Given the description of an element on the screen output the (x, y) to click on. 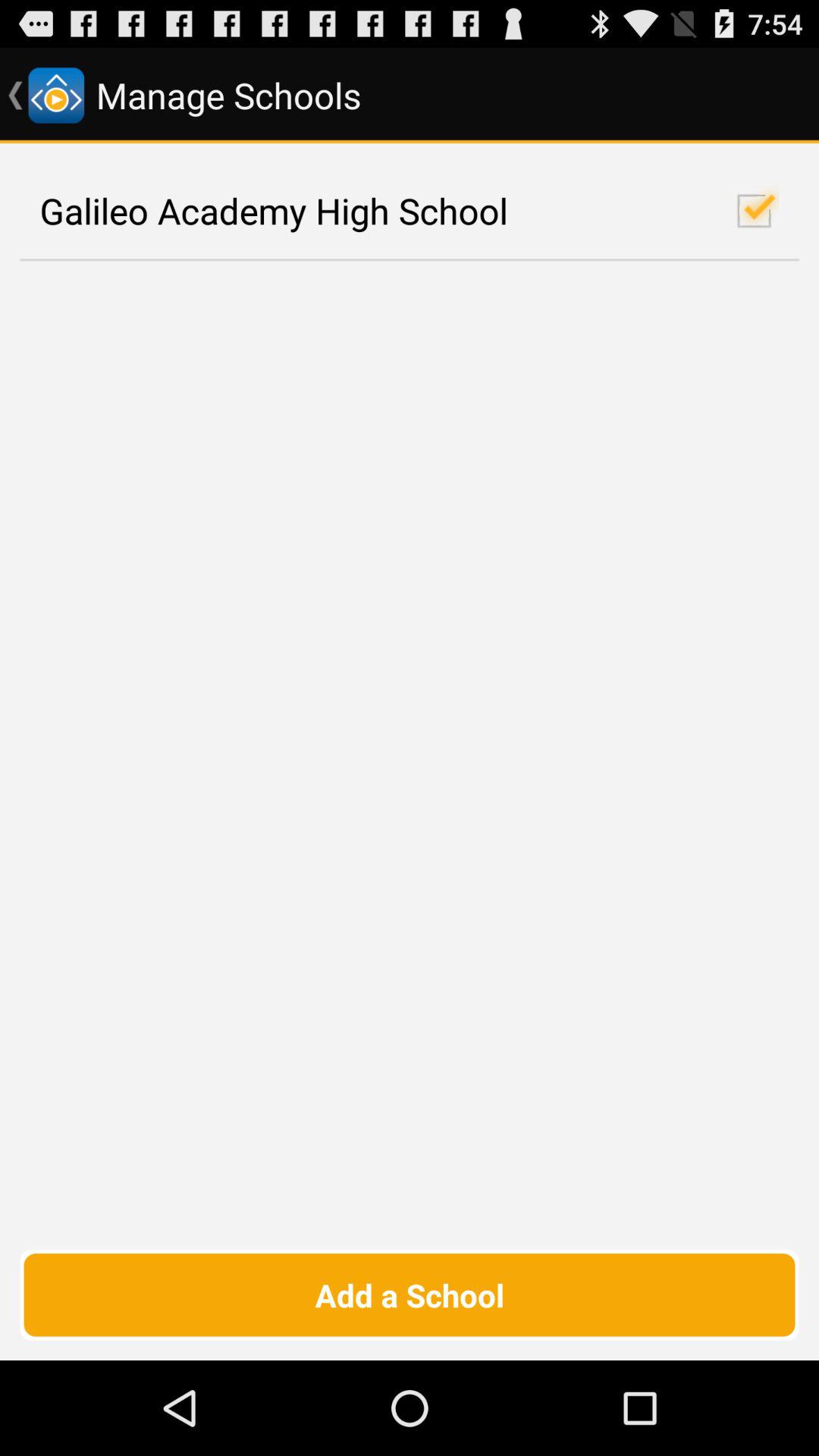
press the icon above add a school button (409, 210)
